Given the description of an element on the screen output the (x, y) to click on. 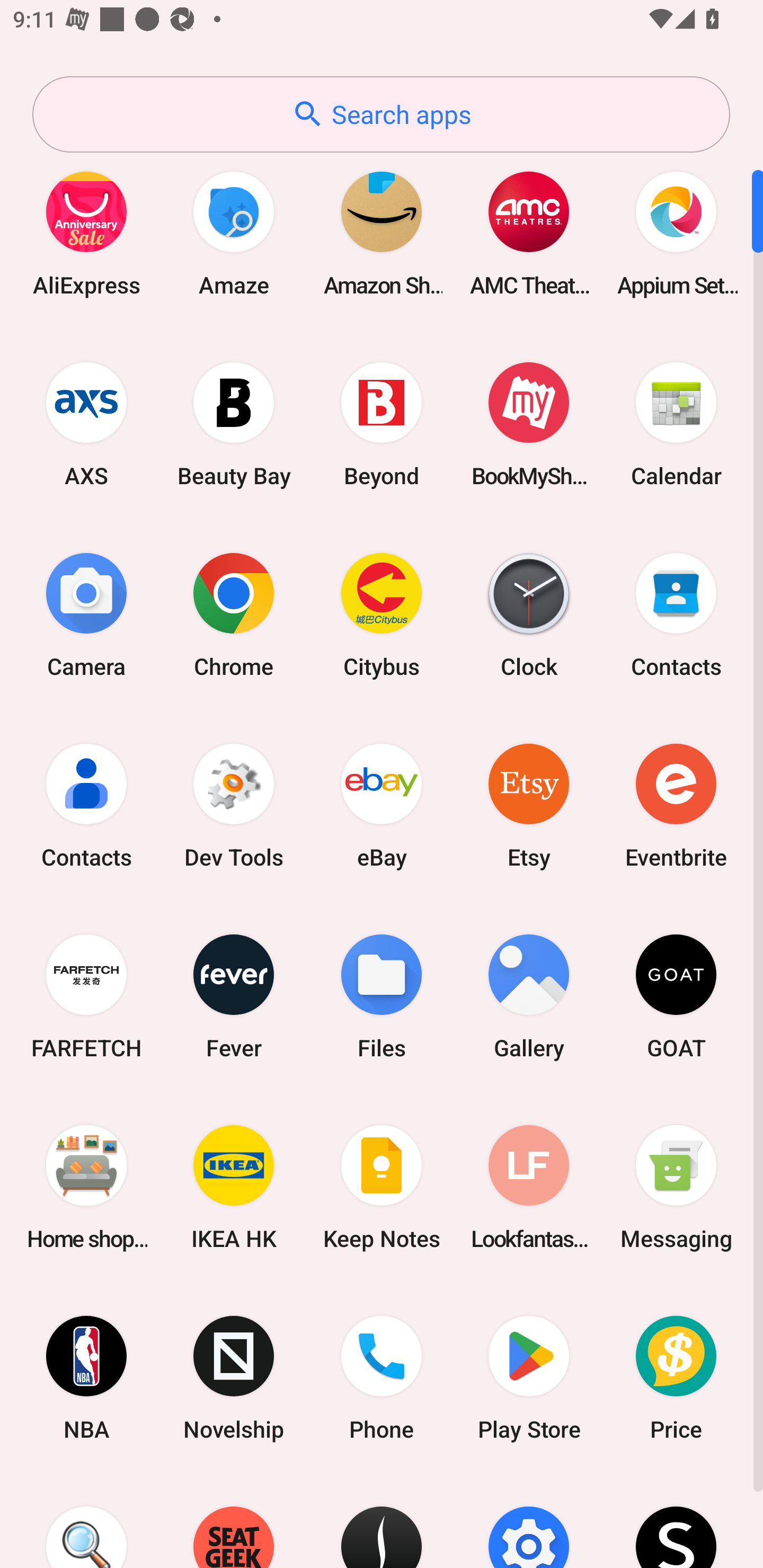
  Search apps (381, 114)
AliExpress (86, 233)
Amaze (233, 233)
Amazon Shopping (381, 233)
AMC Theatres (528, 233)
Appium Settings (676, 233)
AXS (86, 424)
Beauty Bay (233, 424)
Beyond (381, 424)
BookMyShow (528, 424)
Calendar (676, 424)
Camera (86, 614)
Chrome (233, 614)
Citybus (381, 614)
Clock (528, 614)
Contacts (676, 614)
Contacts (86, 805)
Dev Tools (233, 805)
eBay (381, 805)
Etsy (528, 805)
Eventbrite (676, 805)
FARFETCH (86, 996)
Fever (233, 996)
Files (381, 996)
Gallery (528, 996)
GOAT (676, 996)
Home shopping (86, 1186)
IKEA HK (233, 1186)
Keep Notes (381, 1186)
Lookfantastic (528, 1186)
Messaging (676, 1186)
NBA (86, 1377)
Novelship (233, 1377)
Phone (381, 1377)
Play Store (528, 1377)
Price (676, 1377)
